Given the description of an element on the screen output the (x, y) to click on. 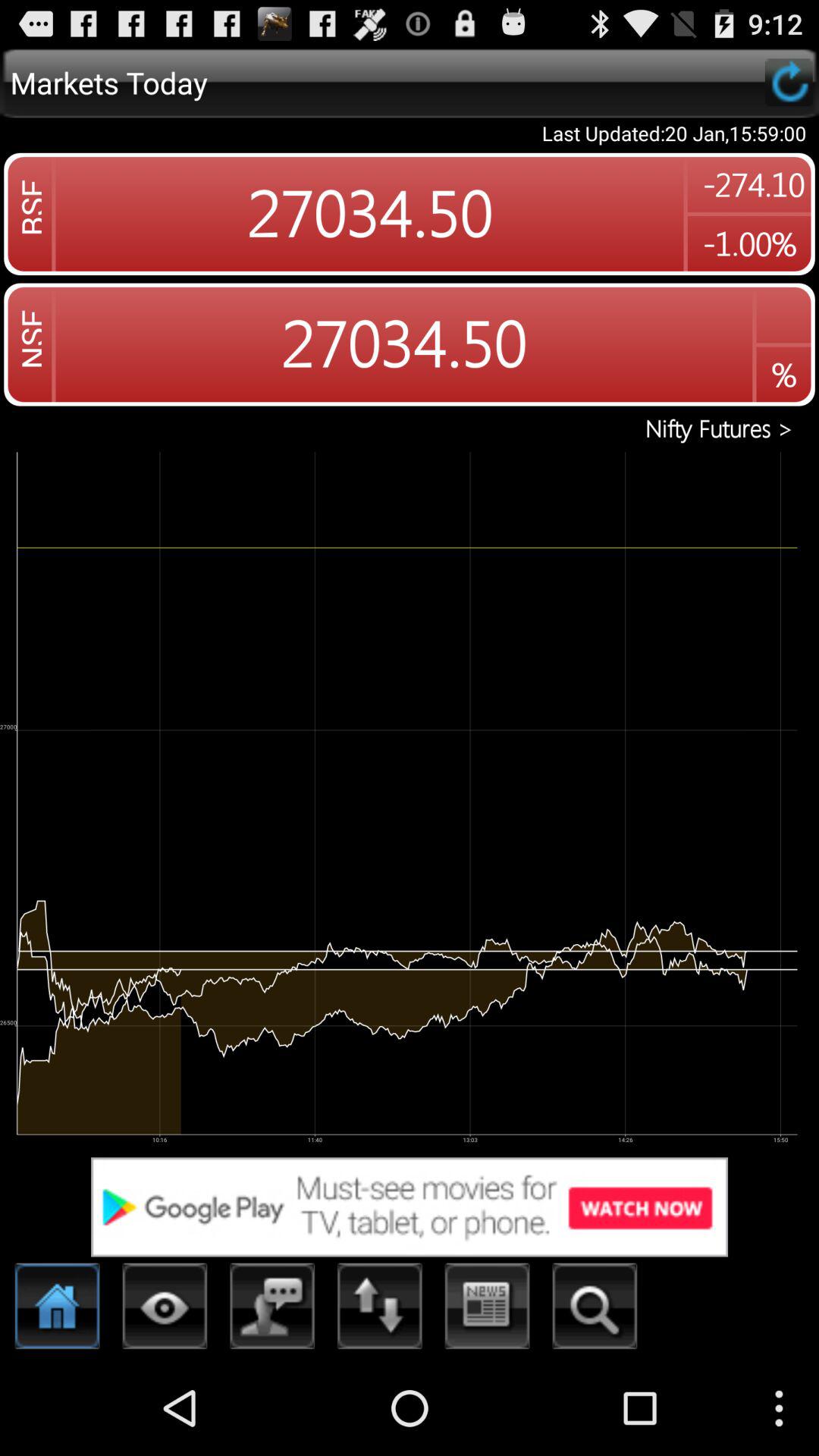
goes to news (487, 1310)
